Given the description of an element on the screen output the (x, y) to click on. 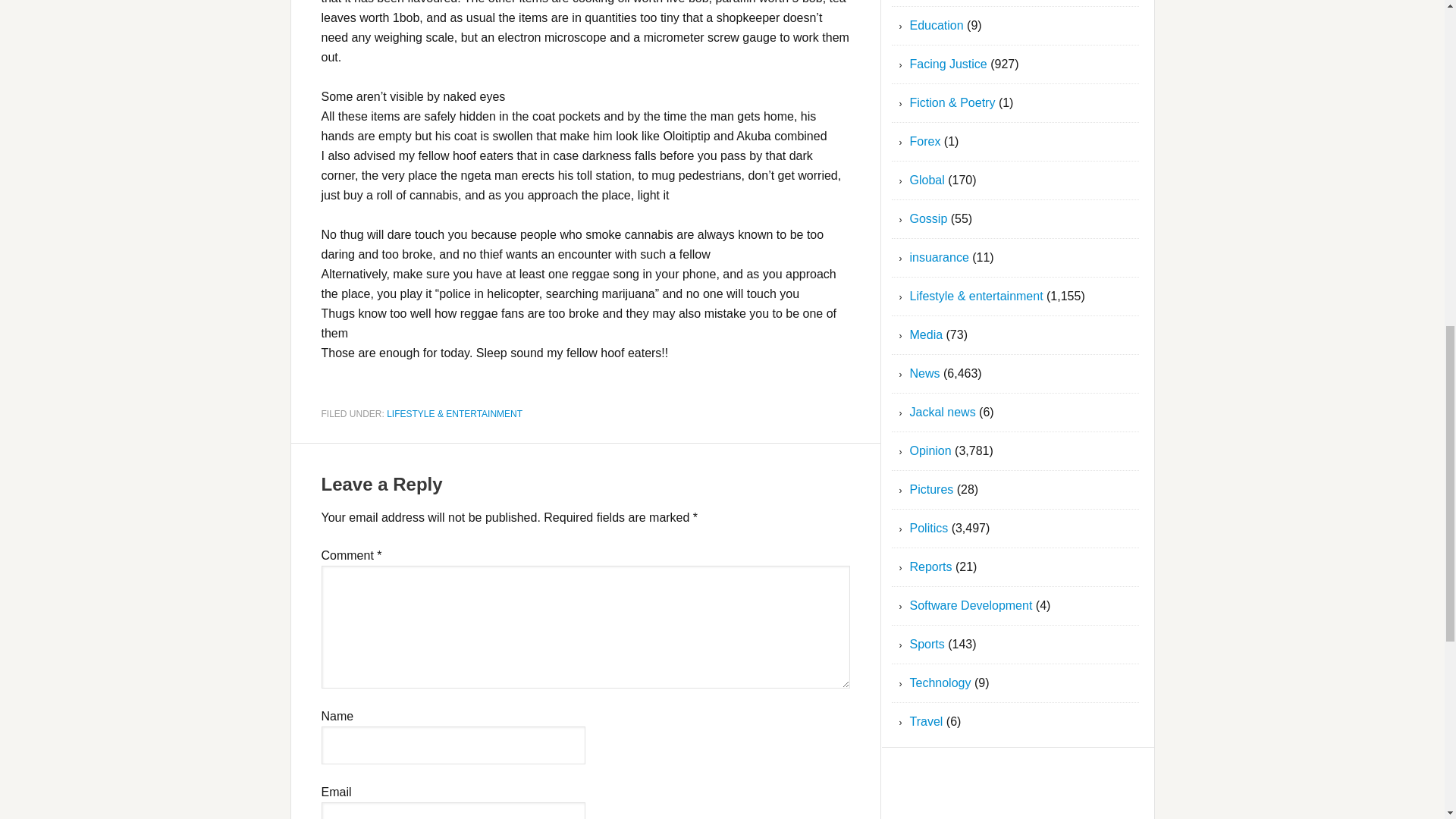
Reports (931, 566)
Education (936, 24)
Politics (929, 527)
insuarance (939, 256)
Jackal news (942, 411)
Gossip (928, 218)
Opinion (931, 450)
News (925, 373)
Global (927, 179)
Media (926, 334)
